Given the description of an element on the screen output the (x, y) to click on. 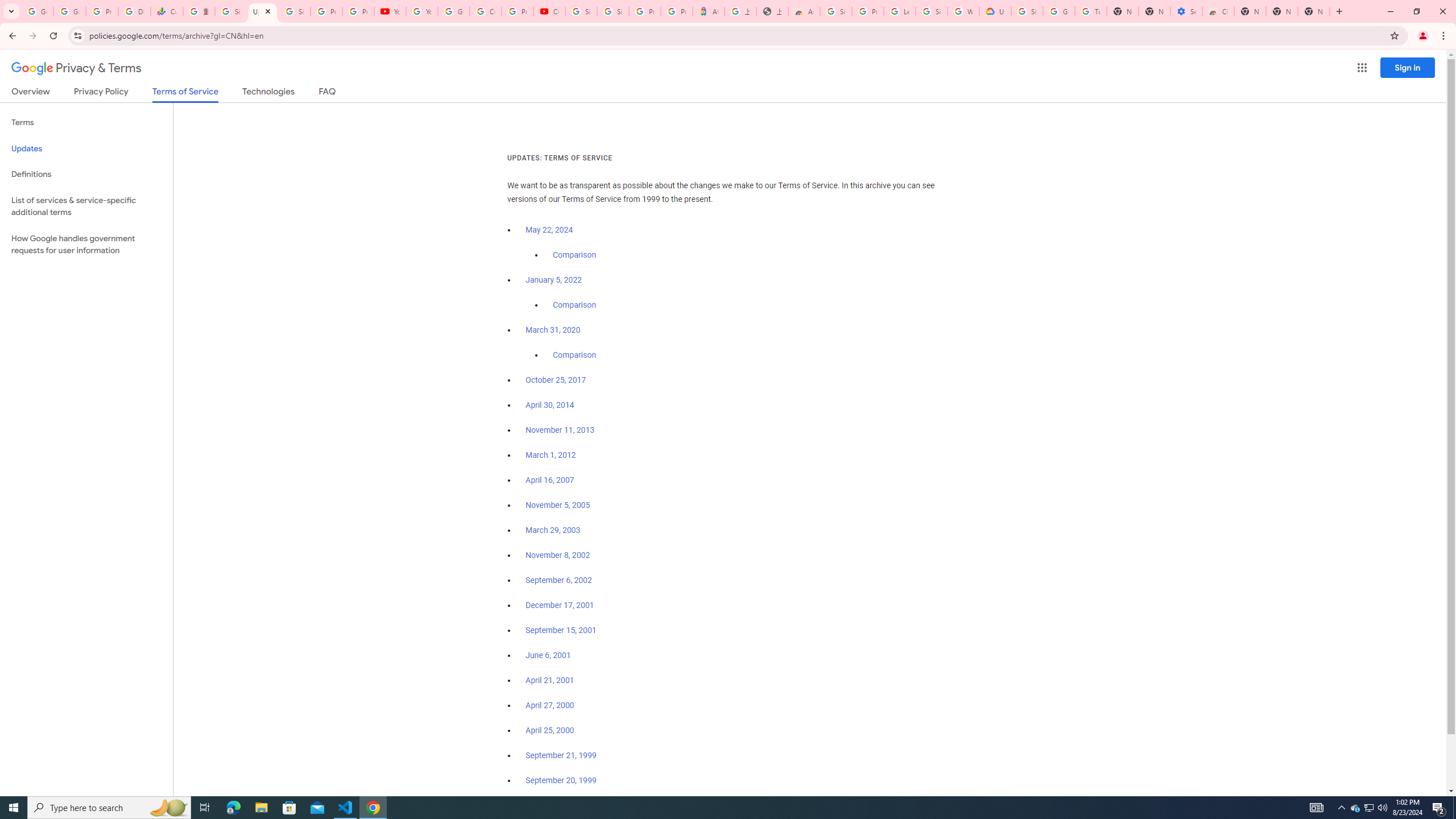
YouTube (421, 11)
September 6, 2002 (558, 579)
YouTube (389, 11)
September 21, 1999 (560, 755)
April 25, 2000 (550, 729)
September 15, 2001 (560, 629)
Sign in - Google Accounts (1027, 11)
May 22, 2024 (549, 230)
How Google handles government requests for user information (86, 244)
